Given the description of an element on the screen output the (x, y) to click on. 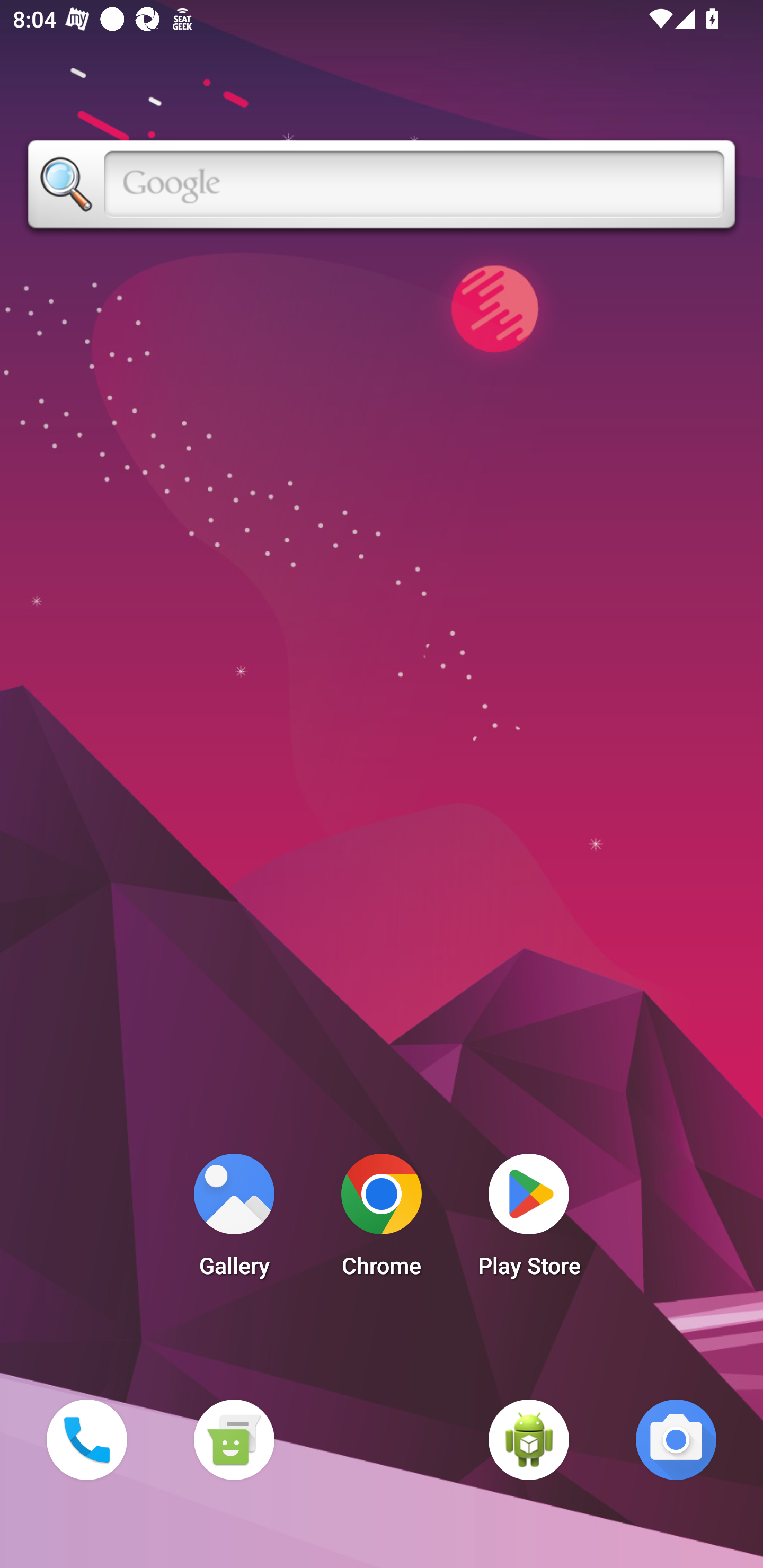
Gallery (233, 1220)
Chrome (381, 1220)
Play Store (528, 1220)
Phone (86, 1439)
Messaging (233, 1439)
WebView Browser Tester (528, 1439)
Camera (676, 1439)
